Given the description of an element on the screen output the (x, y) to click on. 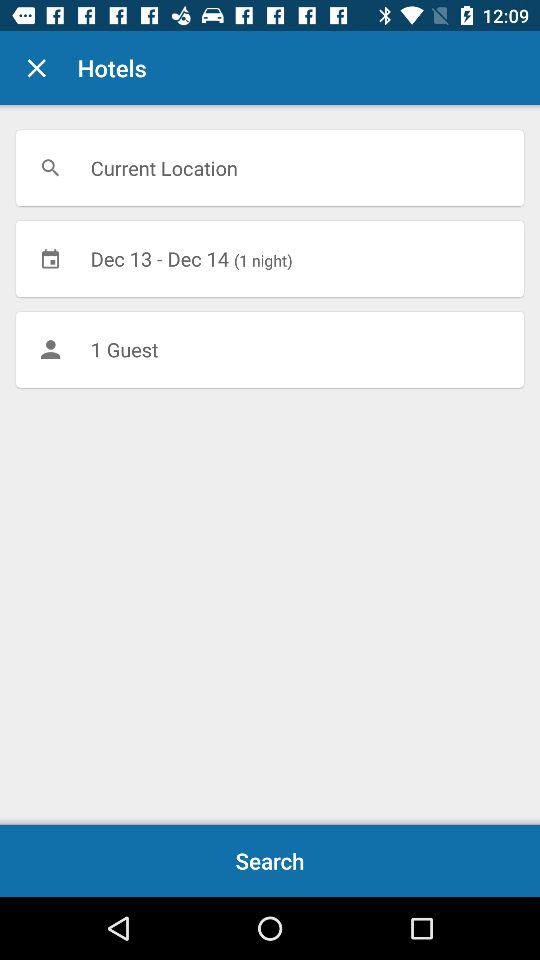
scroll to 1 guest (269, 349)
